Given the description of an element on the screen output the (x, y) to click on. 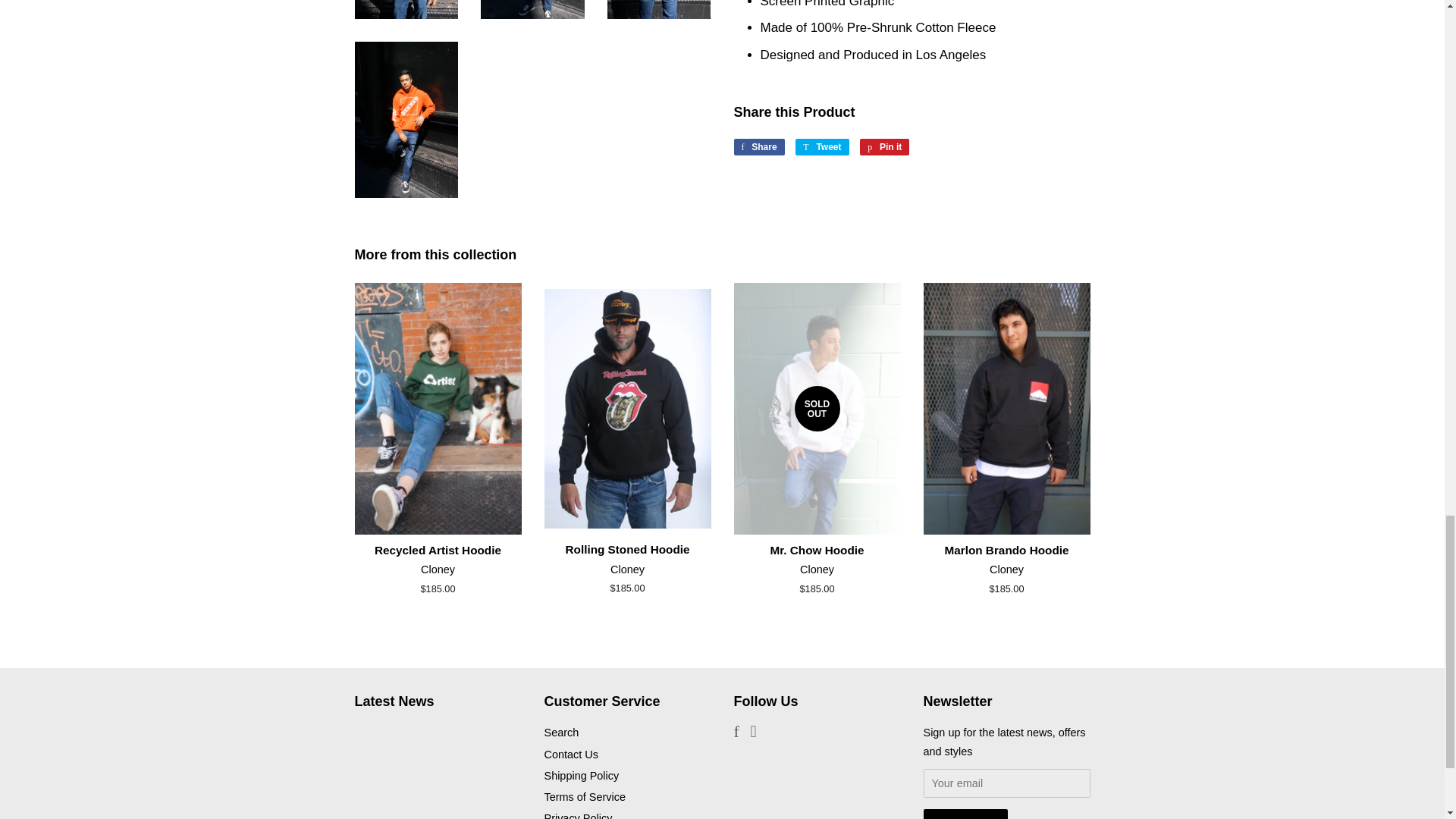
Share on Facebook (758, 146)
Pin on Pinterest (884, 146)
Subscribe (965, 814)
Tweet on Twitter (821, 146)
